Given the description of an element on the screen output the (x, y) to click on. 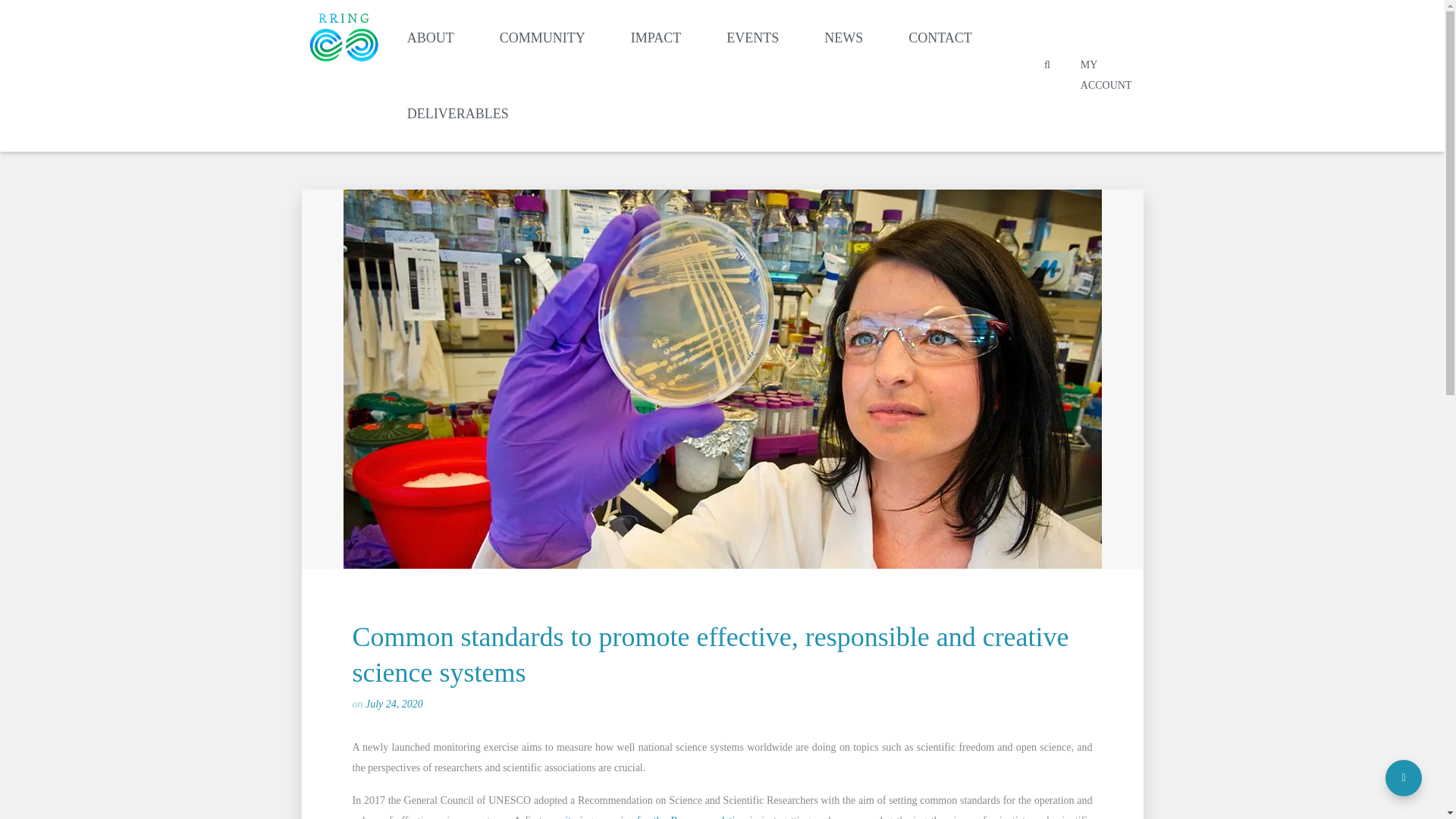
DELIVERABLES (457, 113)
July 24, 2020 (394, 704)
Contact (939, 38)
News (843, 38)
CONTACT (939, 38)
monitoring exercise for the Recommendation (645, 816)
IMPACT (655, 38)
Events (752, 38)
MY ACCOUNT (1106, 74)
EVENTS (752, 38)
DELIVERABLES (457, 113)
About (430, 38)
Impact (655, 38)
NEWS (843, 38)
COMMUNITY (542, 38)
